Given the description of an element on the screen output the (x, y) to click on. 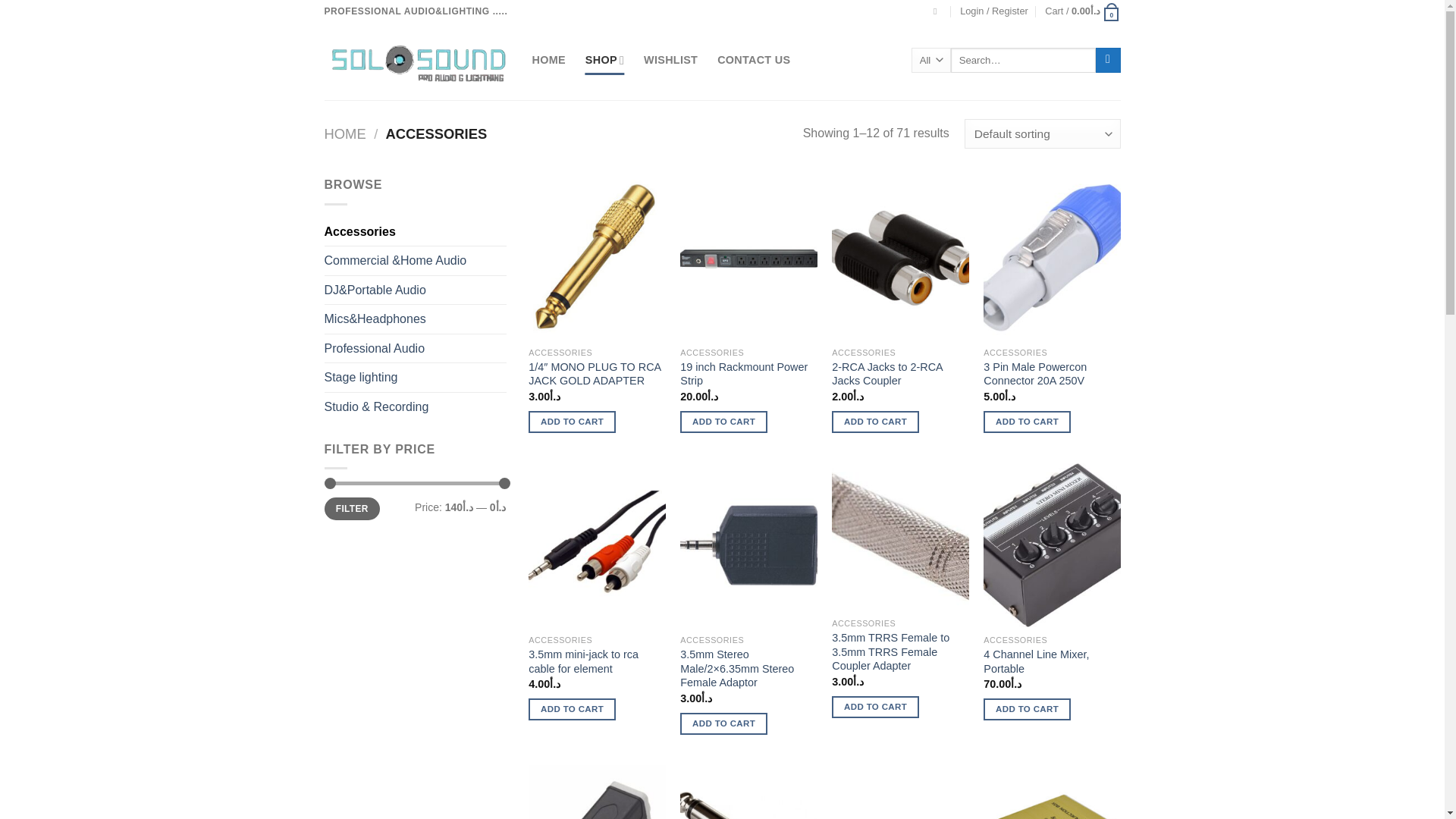
ADD TO CART (571, 422)
Accessories (415, 231)
Stage lighting (415, 377)
HOME (345, 133)
Search (1108, 60)
CONTACT US (753, 60)
HOME (549, 60)
Cart (1082, 11)
WISHLIST (670, 60)
FILTER (352, 508)
Professional Audio (415, 348)
SHOP (604, 60)
